Given the description of an element on the screen output the (x, y) to click on. 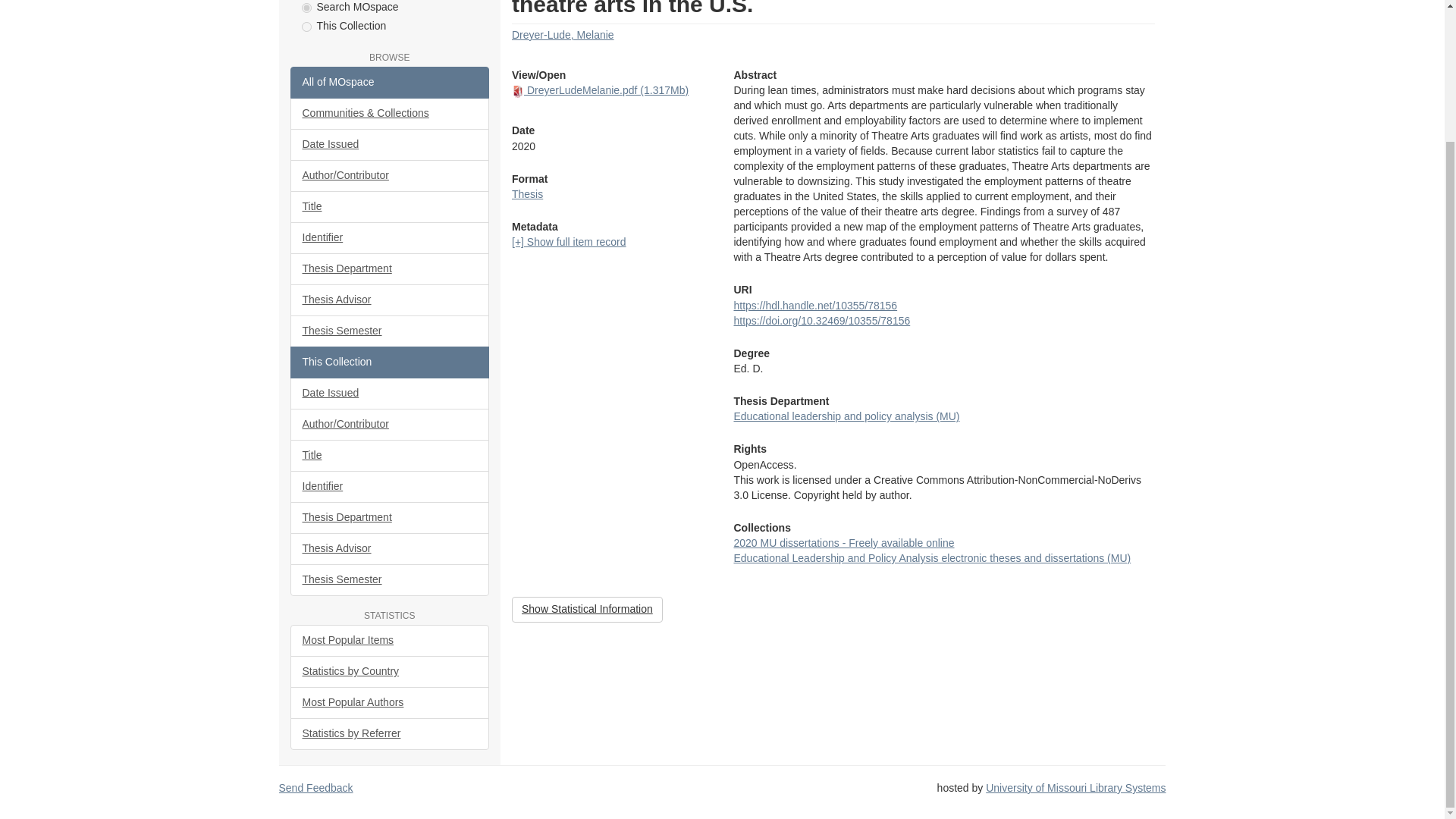
Thesis Department (389, 269)
Identifier (389, 237)
Date Issued (389, 144)
Thesis Advisor (389, 300)
PDF file (518, 91)
All of MOspace (389, 82)
Title (389, 206)
